Given the description of an element on the screen output the (x, y) to click on. 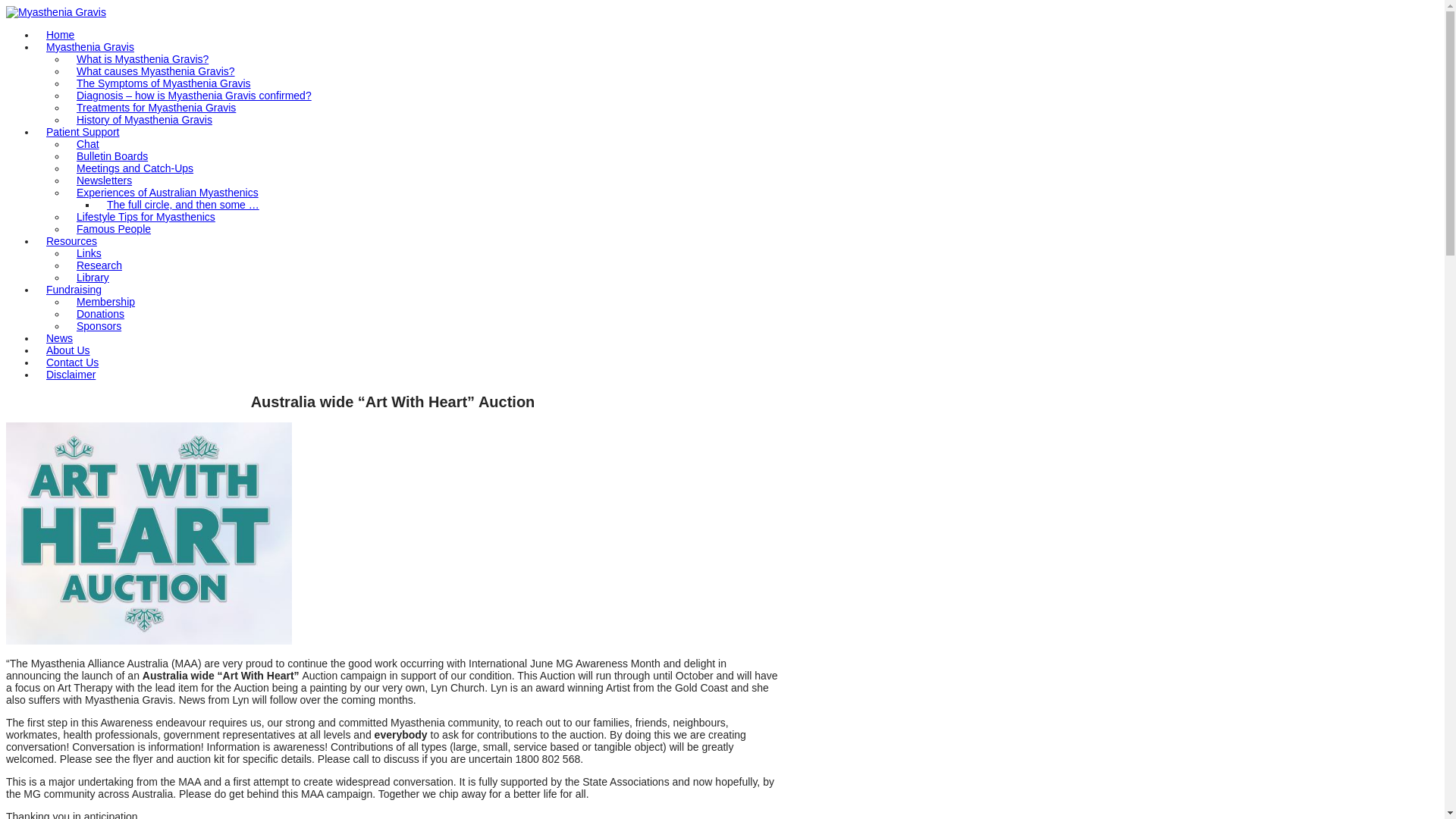
Bulletin Boards Element type: text (111, 156)
The Symptoms of Myasthenia Gravis Element type: text (163, 83)
Contact Us Element type: text (72, 362)
Donations Element type: text (100, 313)
Research Element type: text (98, 265)
Myasthenia Gravis Element type: text (90, 46)
What causes Myasthenia Gravis? Element type: text (155, 71)
Newsletters Element type: text (103, 180)
Myasthenia Gravis Element type: hover (56, 12)
Membership Element type: text (105, 301)
History of Myasthenia Gravis Element type: text (144, 119)
Treatments for Myasthenia Gravis Element type: text (155, 107)
About Us Element type: text (68, 350)
Library Element type: text (92, 277)
Sponsors Element type: text (98, 326)
News Element type: text (59, 338)
Patient Support Element type: text (82, 131)
Famous People Element type: text (113, 228)
Lifestyle Tips for Myasthenics Element type: text (145, 216)
Fundraising Element type: text (73, 289)
What is Myasthenia Gravis? Element type: text (142, 59)
Links Element type: text (88, 253)
Chat Element type: text (87, 144)
Resources Element type: text (71, 241)
Disclaimer Element type: text (70, 374)
Home Element type: text (60, 34)
Experiences of Australian Myasthenics Element type: text (167, 192)
Meetings and Catch-Ups Element type: text (134, 168)
